Given the description of an element on the screen output the (x, y) to click on. 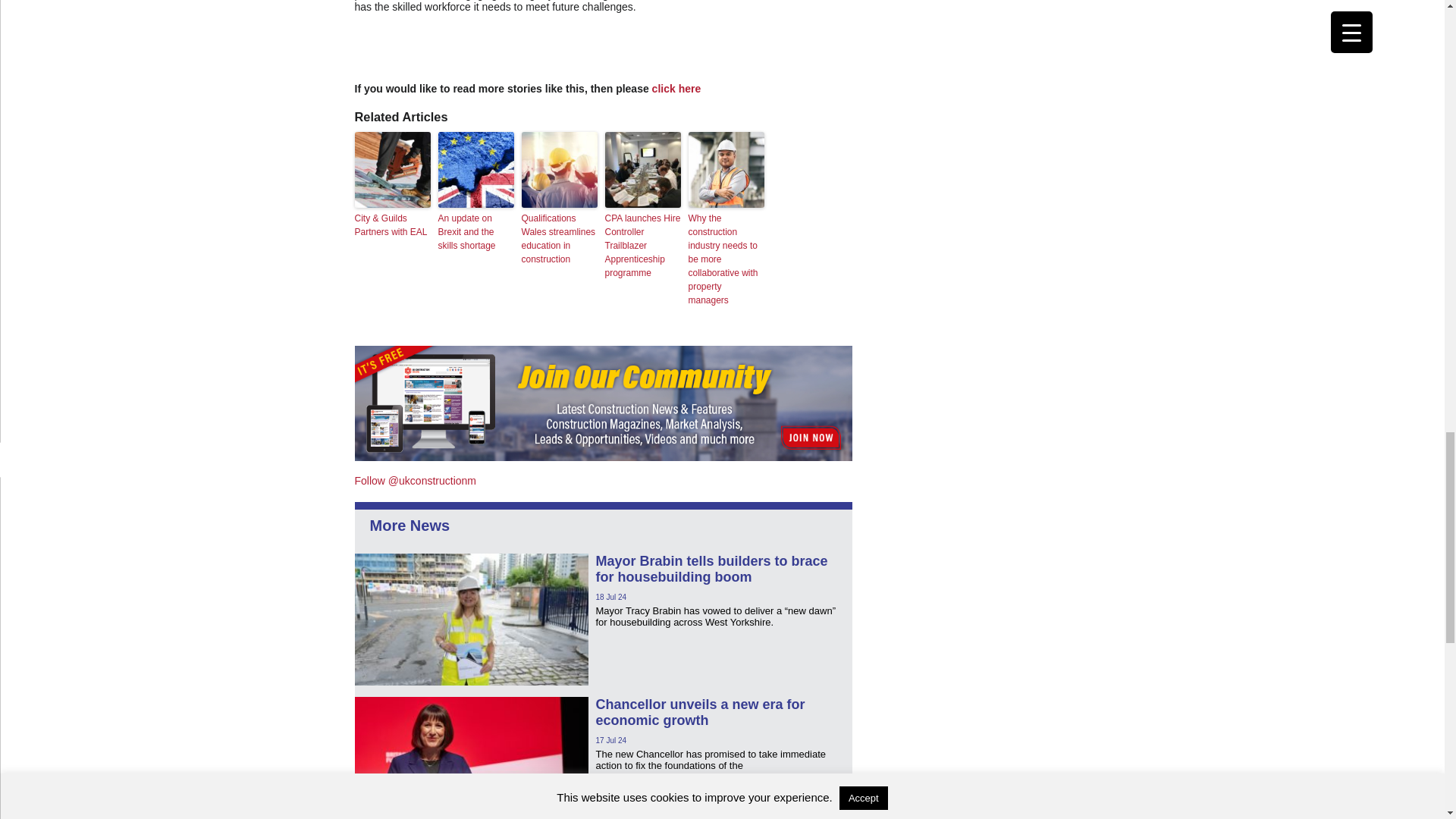
Construction News (402, 525)
